Given the description of an element on the screen output the (x, y) to click on. 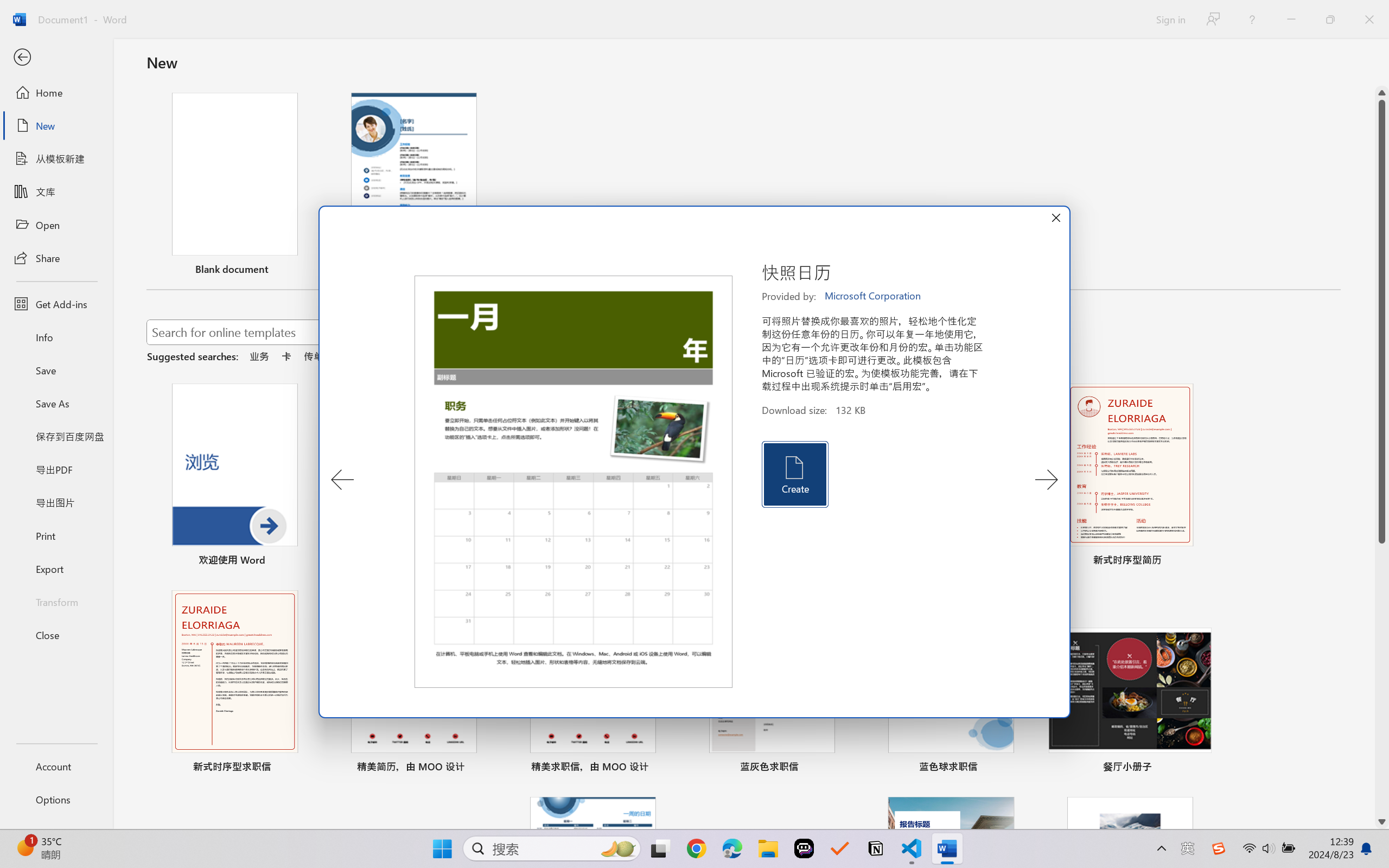
Next Template (1046, 479)
Preview (573, 481)
